Given the description of an element on the screen output the (x, y) to click on. 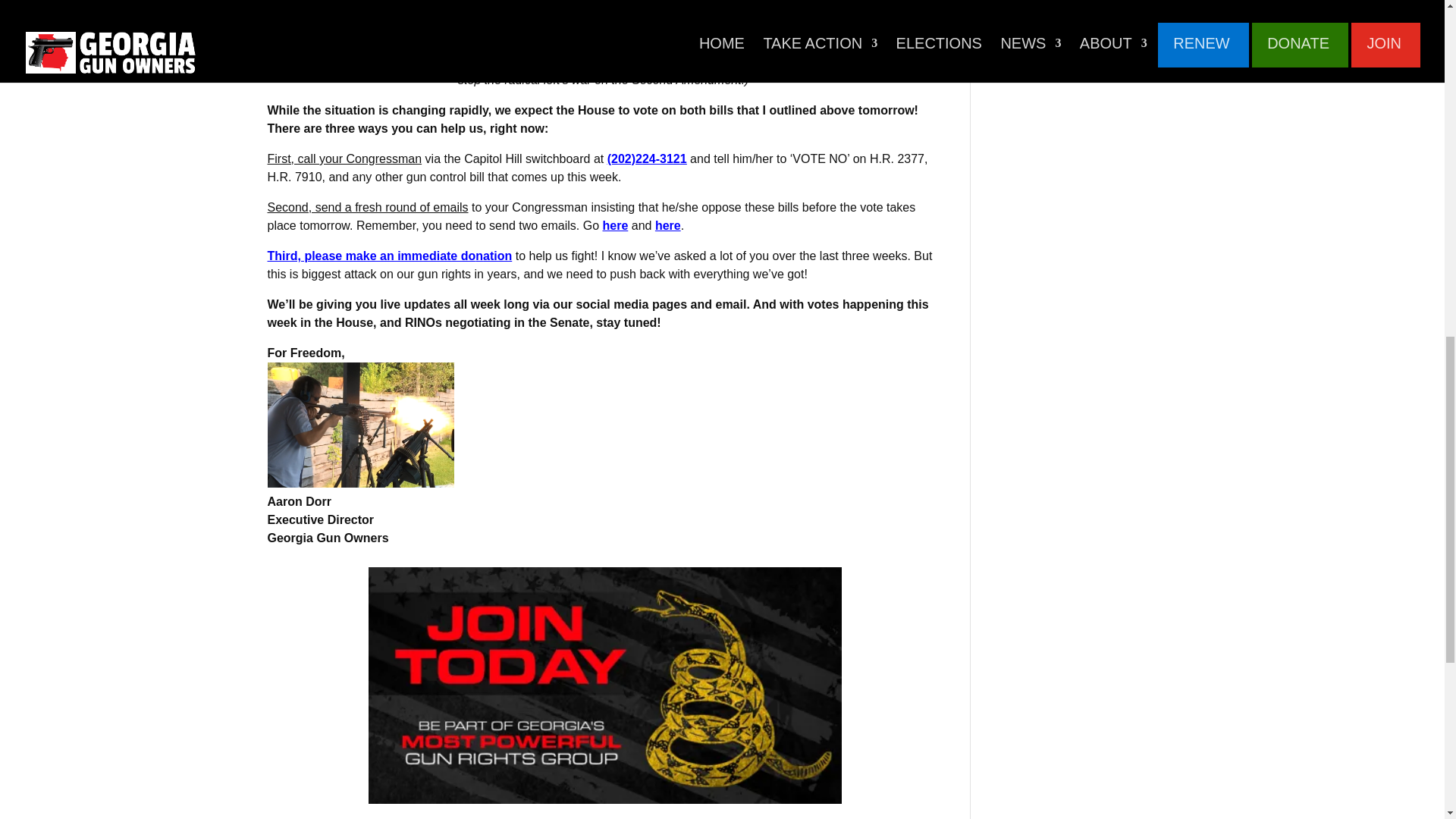
here (614, 225)
here (668, 225)
Third, please make an immediate donation (389, 255)
